Given the description of an element on the screen output the (x, y) to click on. 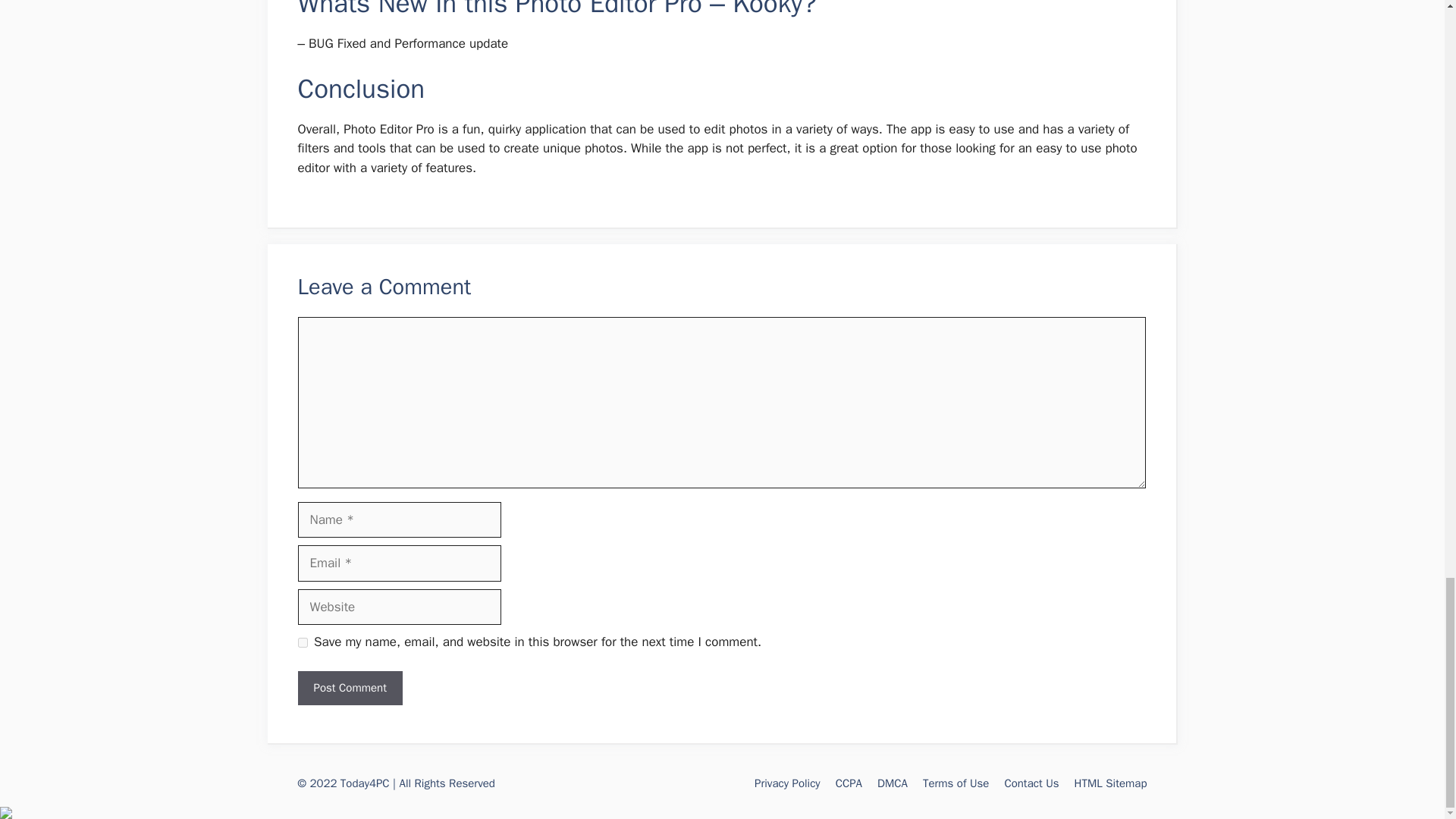
Post Comment (349, 687)
Contact Us (1031, 783)
Terms of Use (956, 783)
DMCA (892, 783)
Post Comment (349, 687)
HTML Sitemap (1110, 783)
Privacy Policy (787, 783)
yes (302, 642)
CCPA (848, 783)
